Given the description of an element on the screen output the (x, y) to click on. 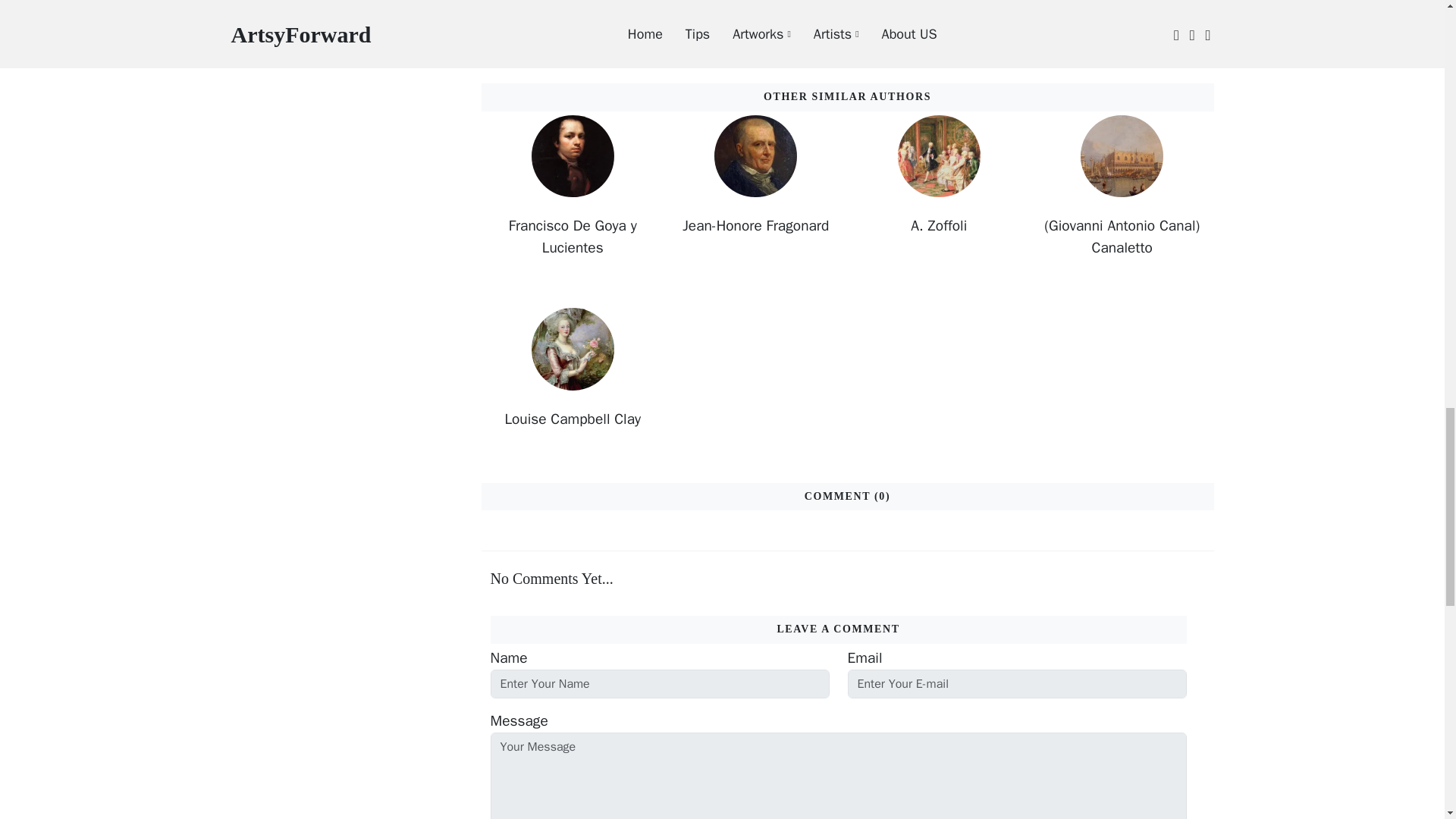
Jean-Honore Fragonard (755, 226)
Francisco De Goya y Lucientes (572, 237)
